Given the description of an element on the screen output the (x, y) to click on. 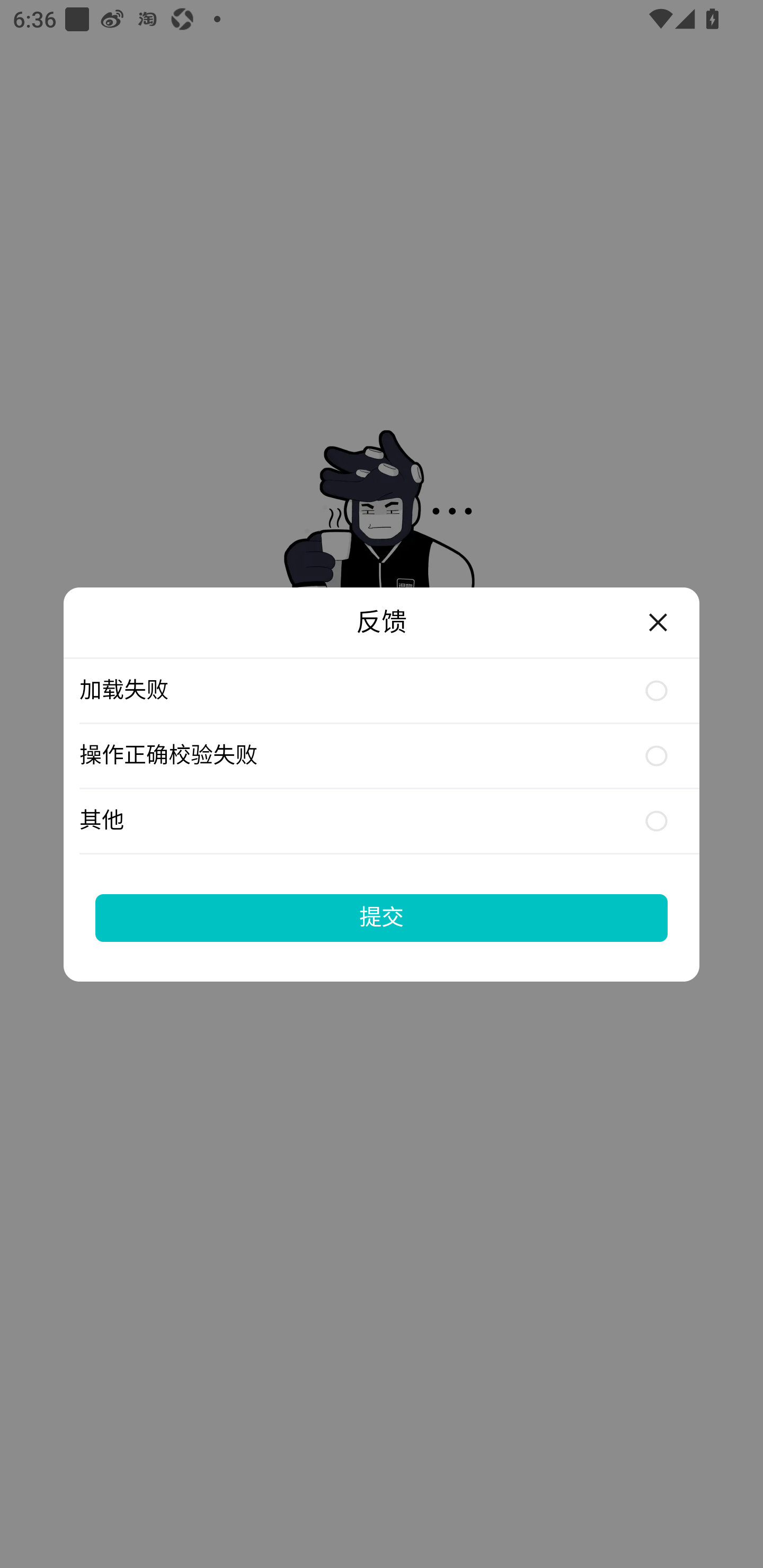
提交 (381, 917)
